Given the description of an element on the screen output the (x, y) to click on. 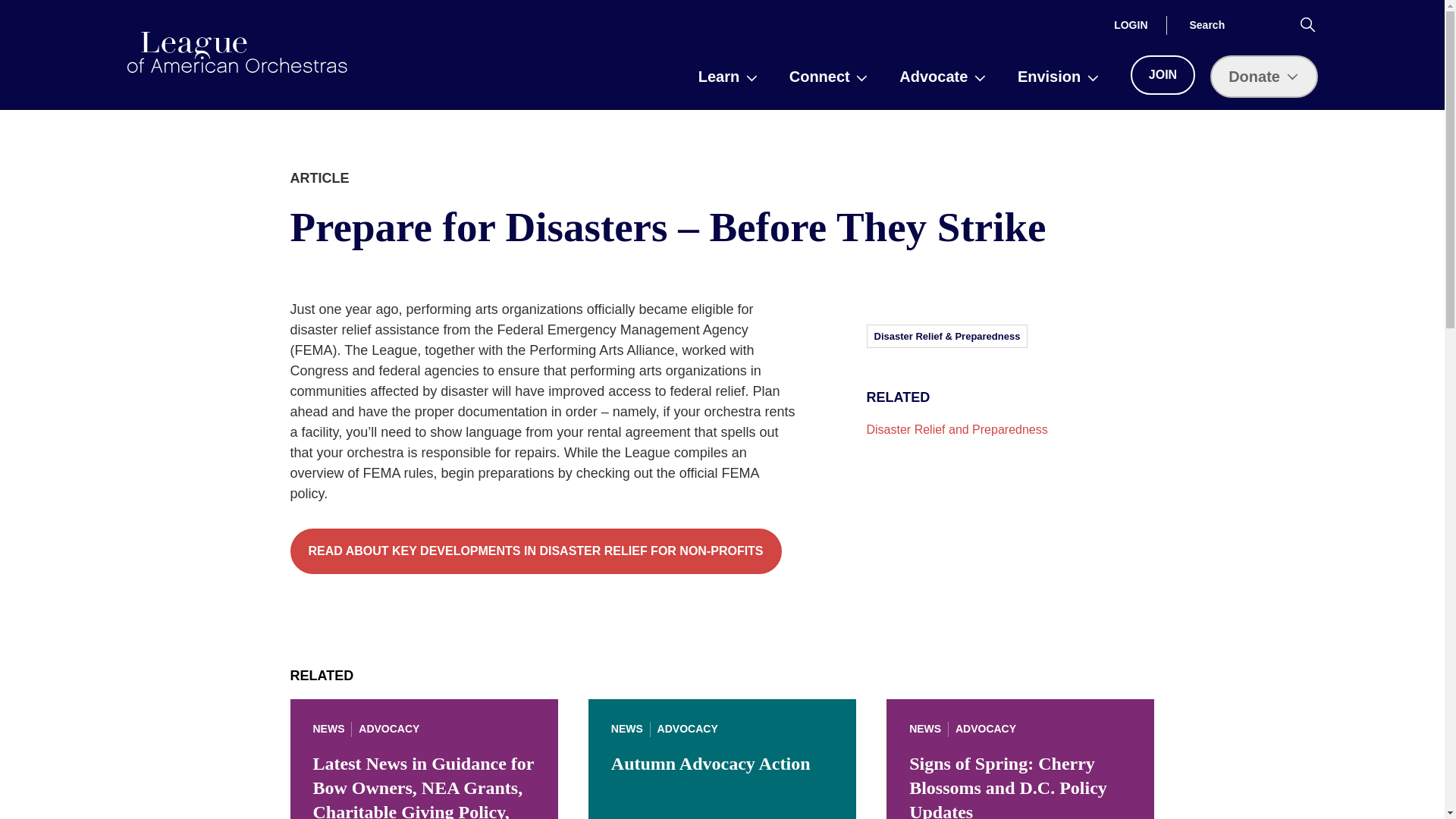
americanorchestras.org homepage (237, 51)
Connect (829, 76)
LOGIN (1131, 24)
Search (1307, 24)
Learn (728, 76)
